Given the description of an element on the screen output the (x, y) to click on. 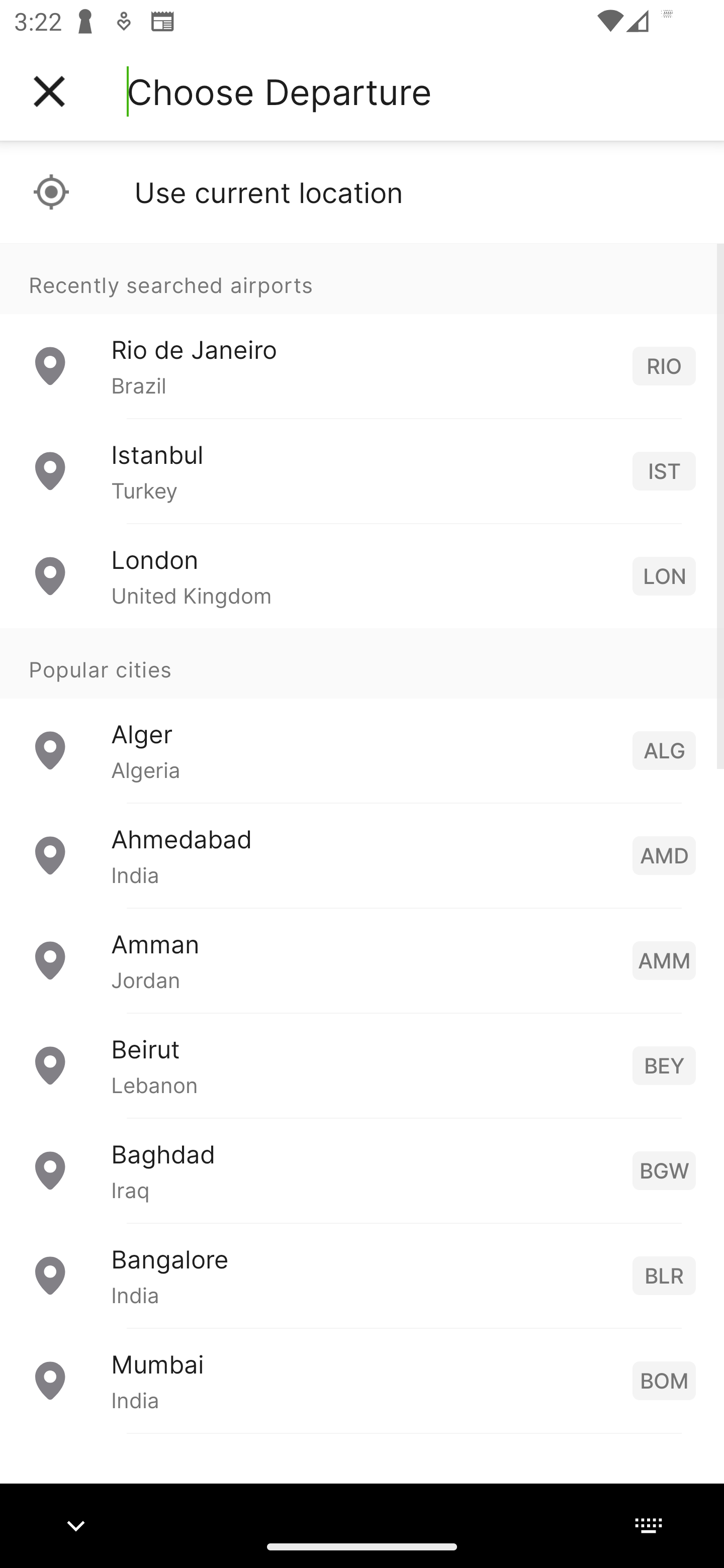
Choose Departure (279, 91)
Use current location (362, 192)
Recently searched airports (362, 278)
Istanbul Turkey IST (362, 470)
London United Kingdom LON (362, 575)
Popular cities Alger Algeria ALG (362, 715)
Popular cities (362, 663)
Ahmedabad India AMD (362, 854)
Amman Jordan AMM (362, 959)
Beirut Lebanon BEY (362, 1064)
Baghdad Iraq BGW (362, 1170)
Bangalore India BLR (362, 1275)
Mumbai India BOM (362, 1380)
